Given the description of an element on the screen output the (x, y) to click on. 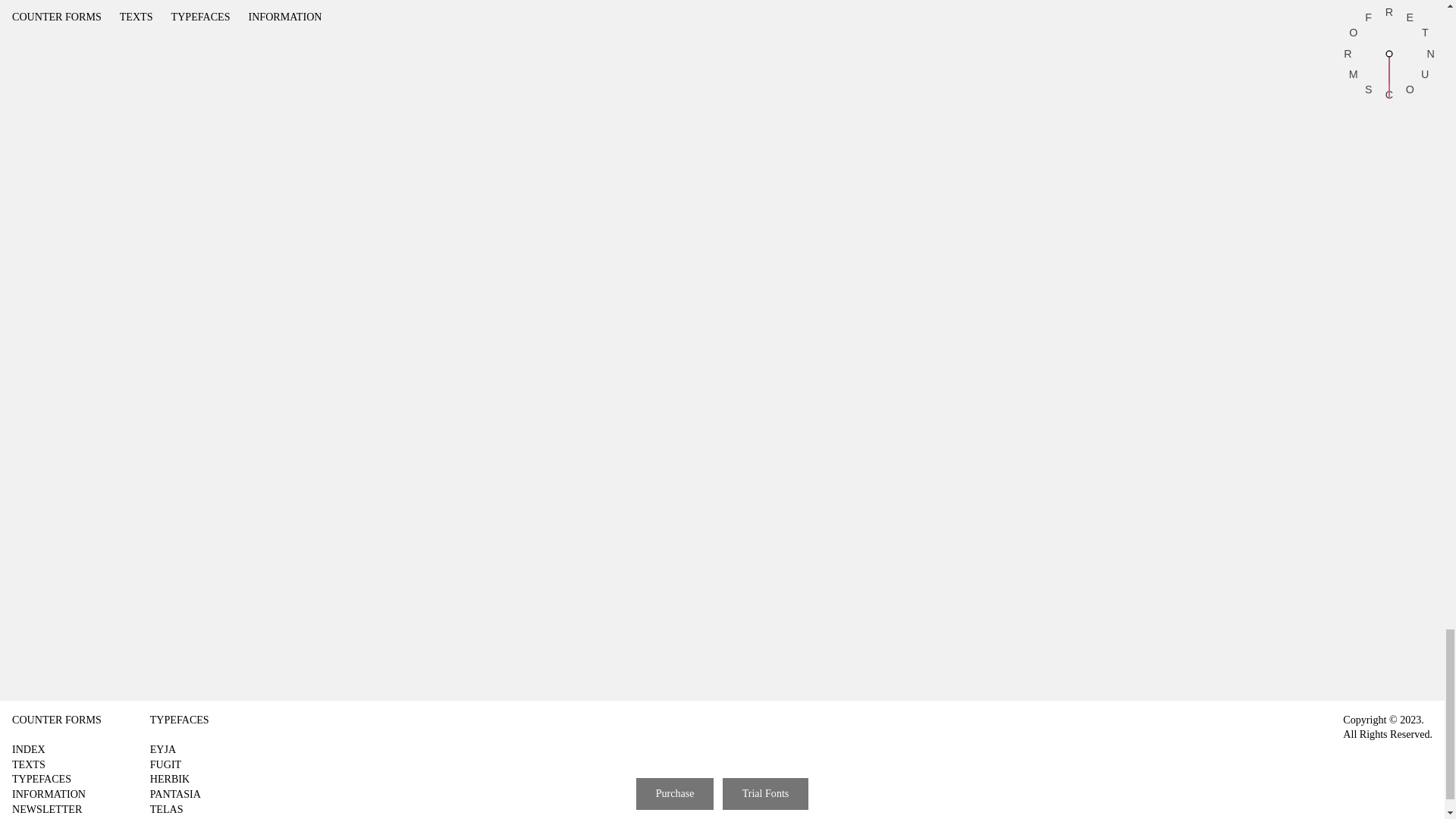
INFORMATION (48, 793)
EYJA (162, 748)
NEWSLETTER (46, 809)
TYPEFACES (179, 719)
FUGIT (164, 764)
TELAS (166, 808)
TEXTS (28, 764)
INDEX (28, 748)
PANTASIA (174, 793)
HERBIK (169, 778)
